Given the description of an element on the screen output the (x, y) to click on. 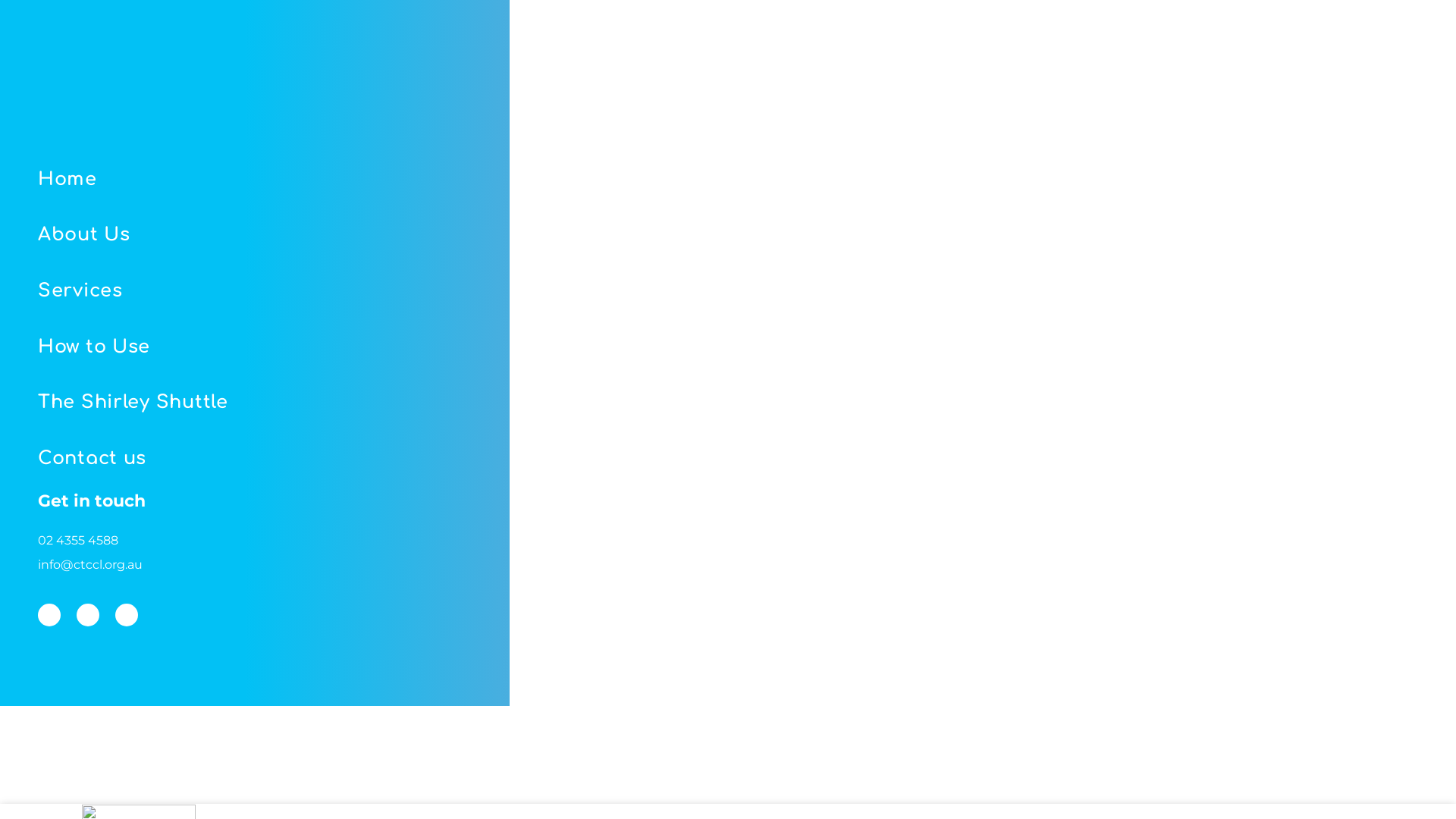
How to Use Element type: text (292, 347)
Home Element type: text (292, 179)
Services Element type: text (292, 291)
The Shirley Shuttle Element type: text (292, 402)
About Us Element type: text (292, 235)
Contact us Element type: text (292, 458)
